Given the description of an element on the screen output the (x, y) to click on. 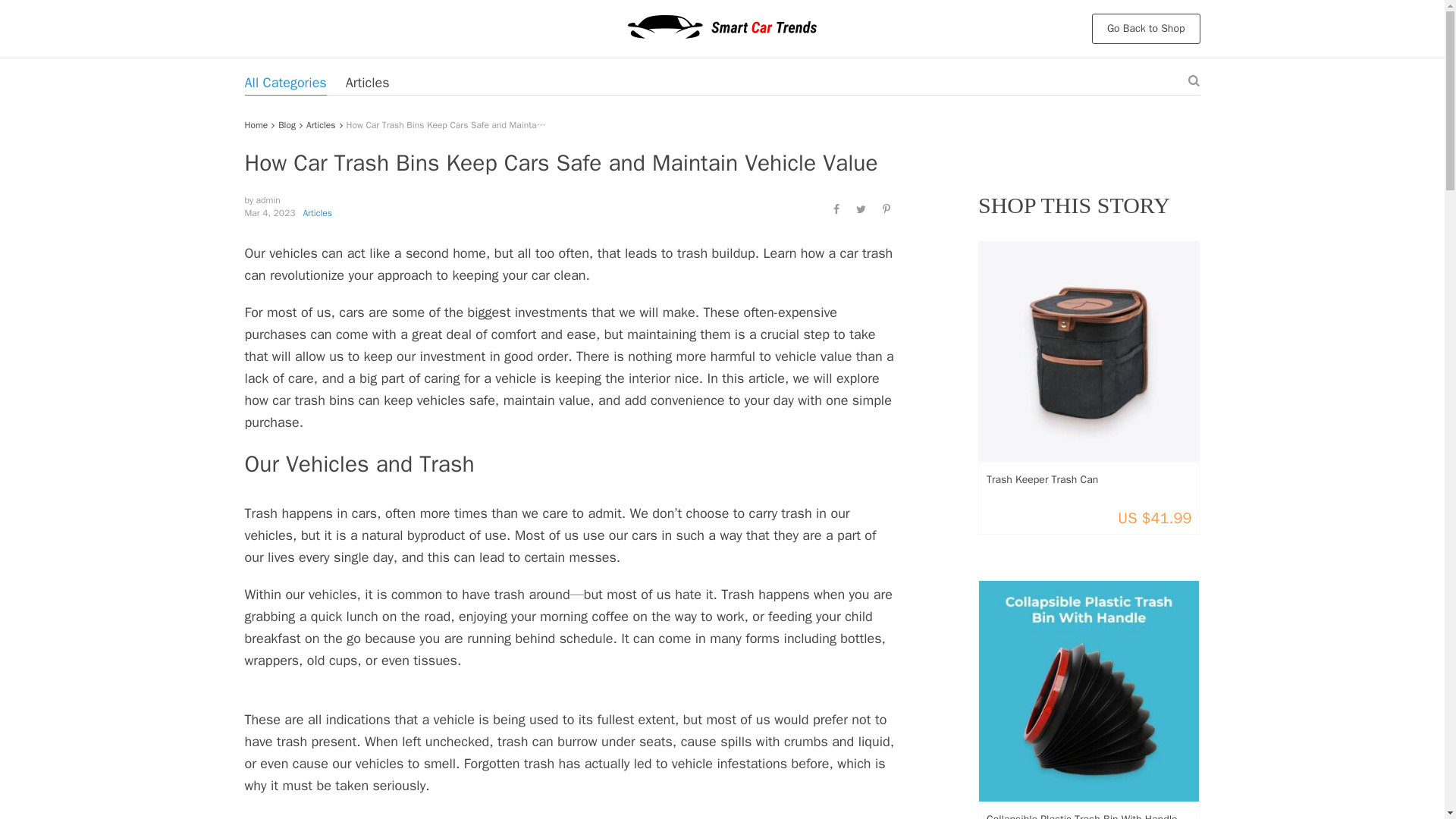
Articles (368, 82)
Articles (316, 213)
Go Back to Shop (1145, 28)
Blog (286, 124)
Home (255, 124)
Articles (320, 124)
All Categories (285, 82)
